Given the description of an element on the screen output the (x, y) to click on. 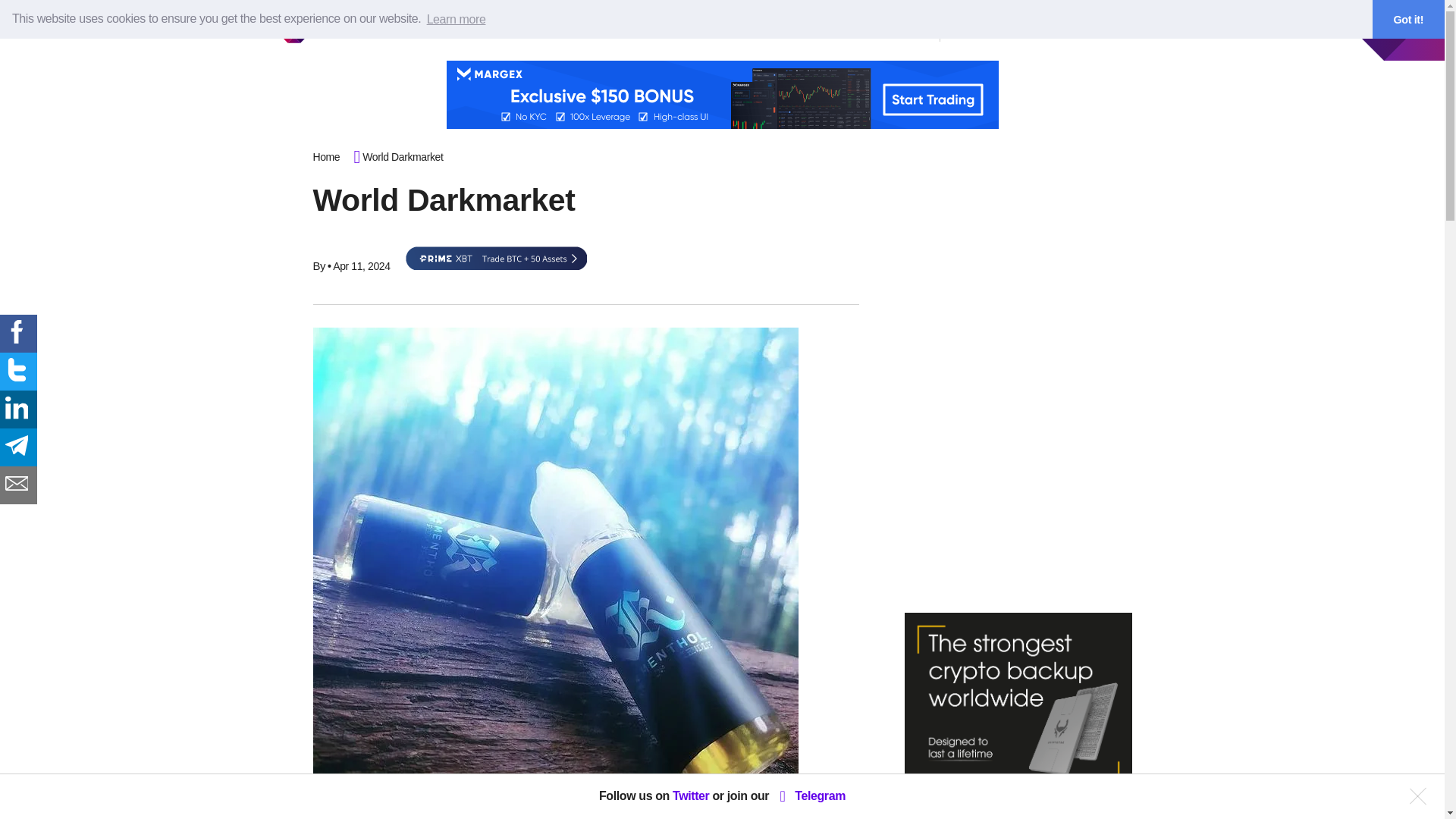
Market Cap (758, 30)
Guides (622, 30)
Price Tracker (835, 30)
Videos (563, 30)
Podcast (904, 30)
Exchanges (687, 30)
Exclusives (496, 30)
Learn more (455, 18)
